Given the description of an element on the screen output the (x, y) to click on. 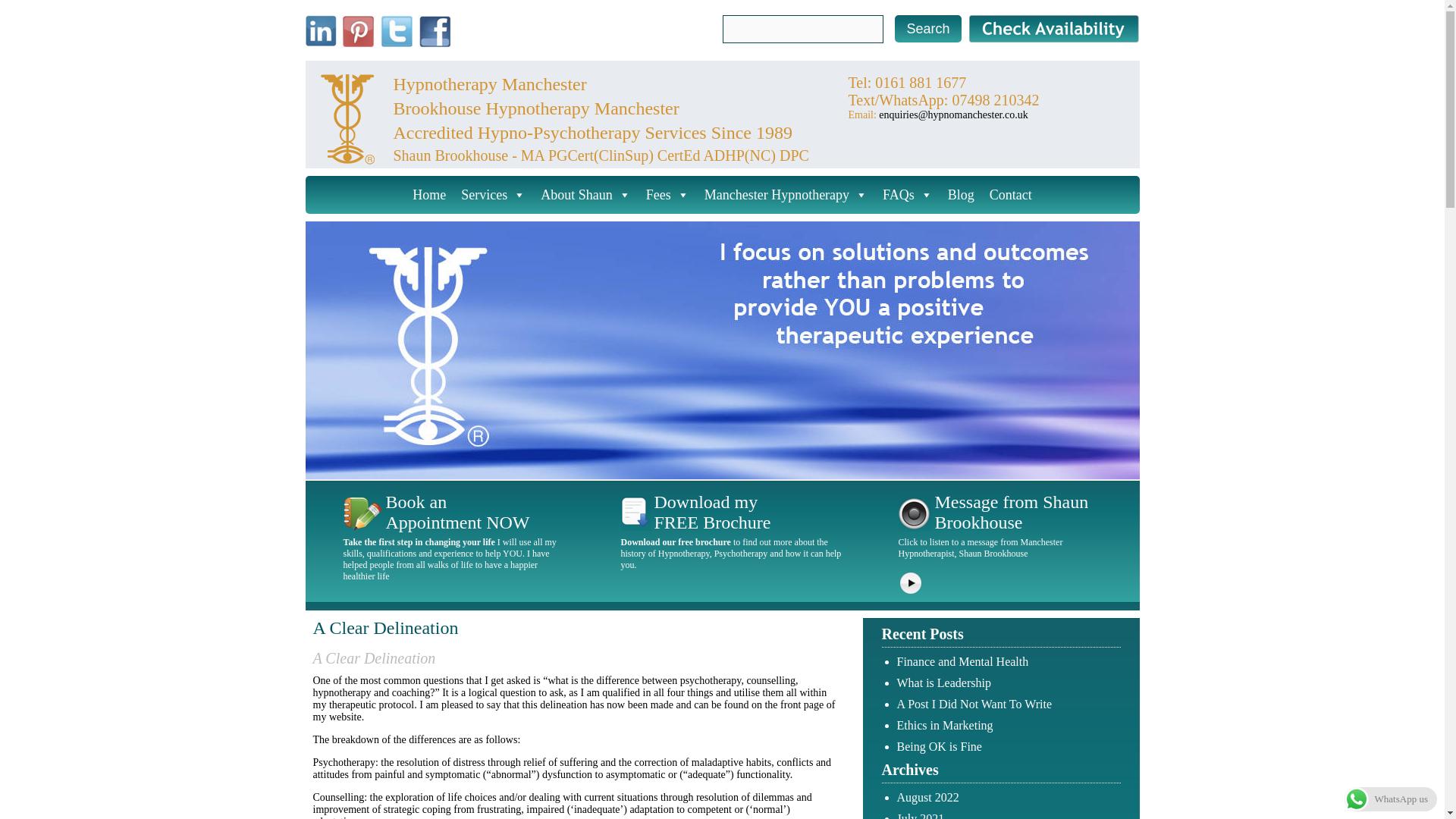
Fees (668, 194)
Search (927, 28)
Home (428, 194)
About Shaun (585, 194)
Services (492, 194)
Manchester Hypnotherapy (786, 194)
Search (927, 28)
